Given the description of an element on the screen output the (x, y) to click on. 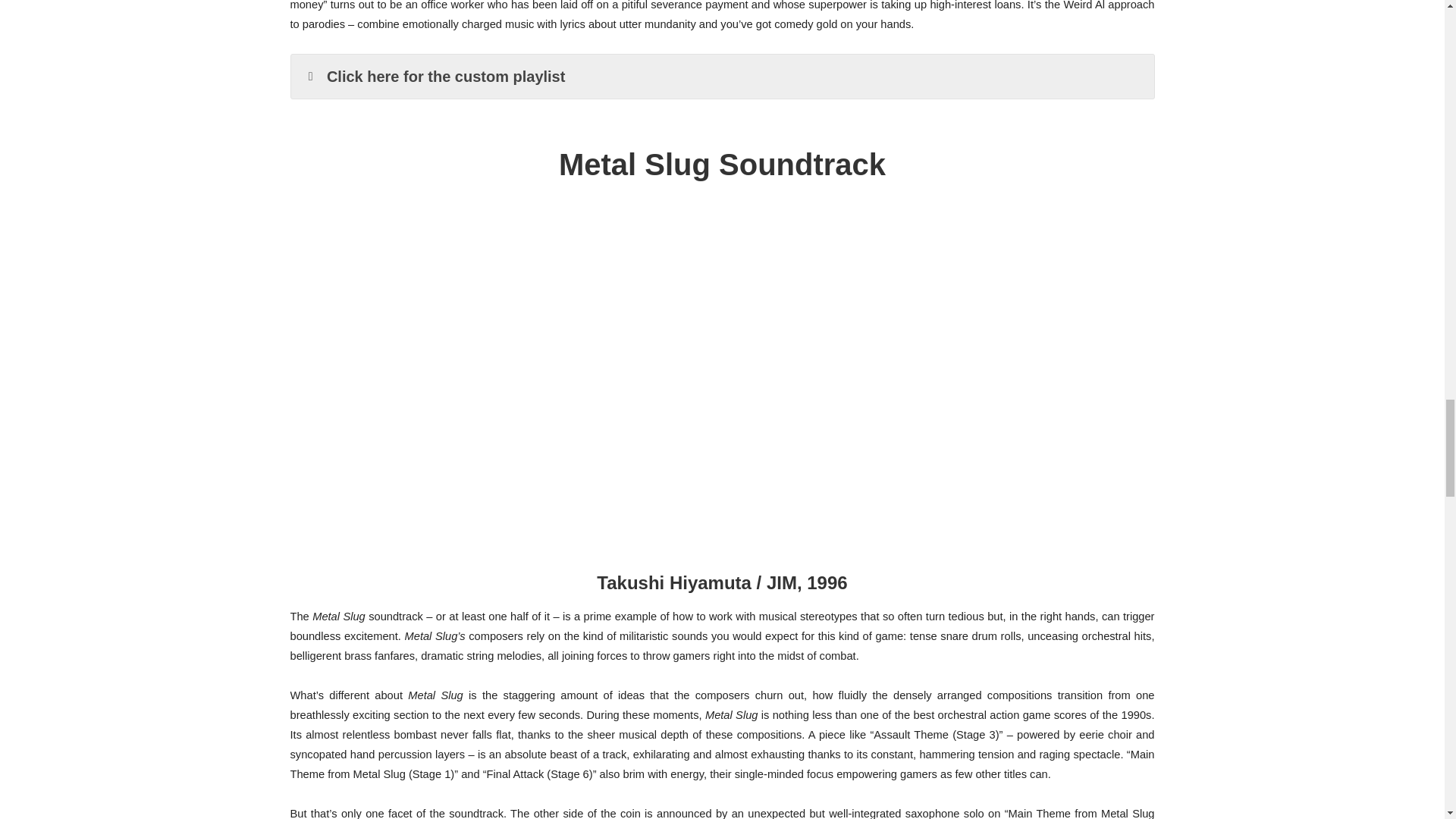
Click here for the custom playlist (722, 76)
